Given the description of an element on the screen output the (x, y) to click on. 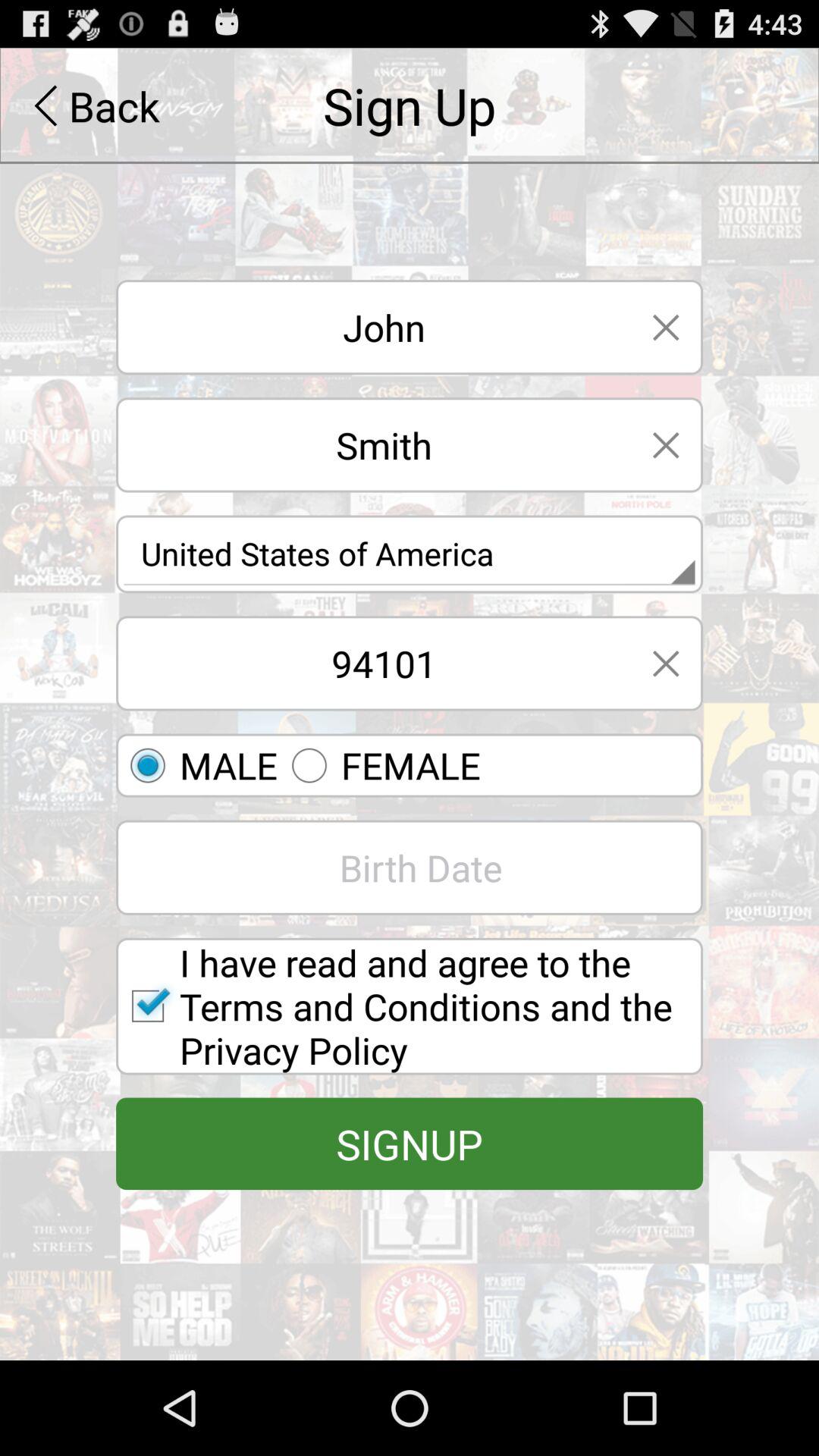
remove option (665, 327)
